Given the description of an element on the screen output the (x, y) to click on. 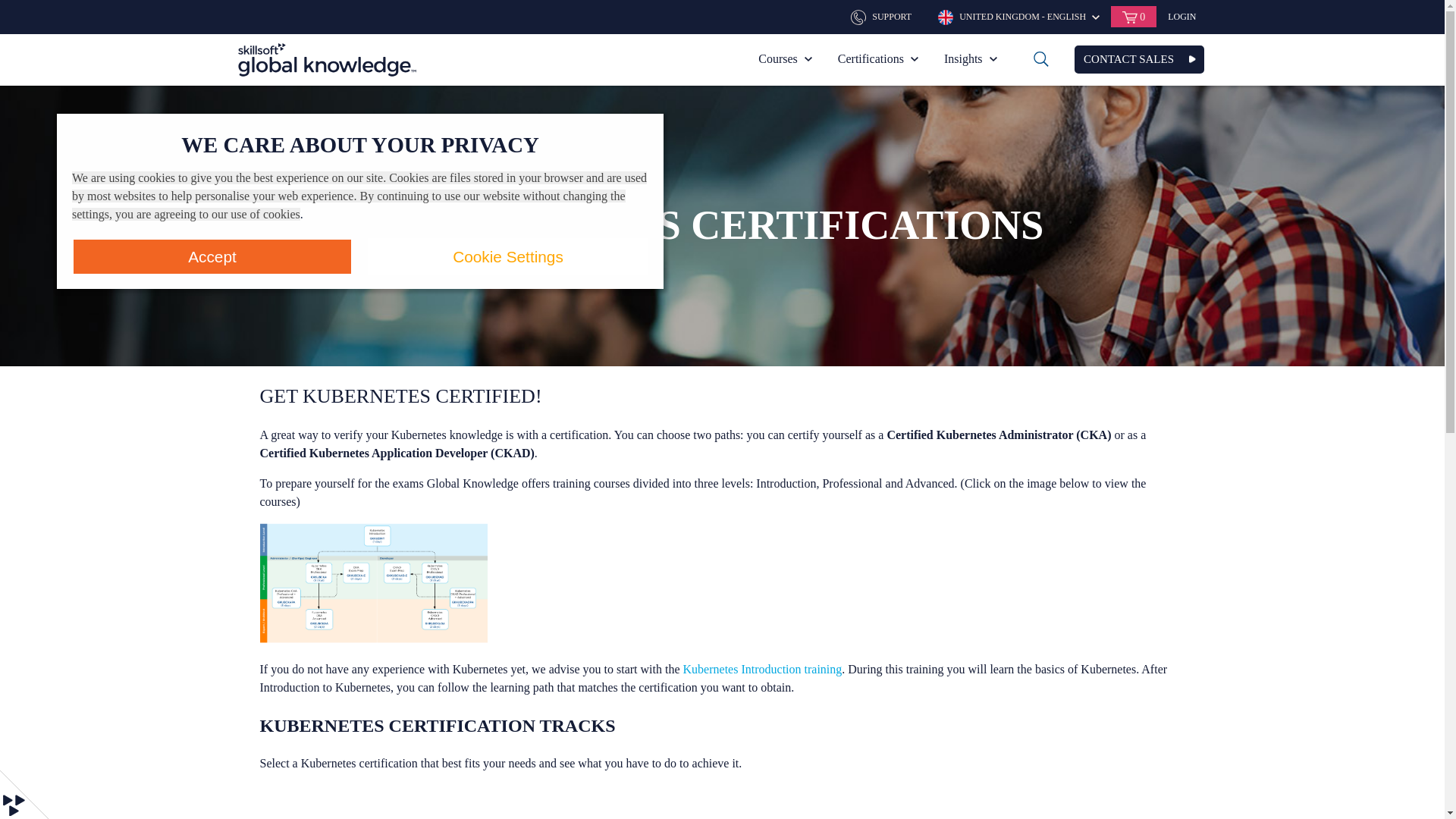
SUPPORT (883, 16)
0 (1133, 16)
Courses (785, 58)
LOGIN (1181, 16)
UNITED KINGDOM - ENGLISH (1018, 16)
